Given the description of an element on the screen output the (x, y) to click on. 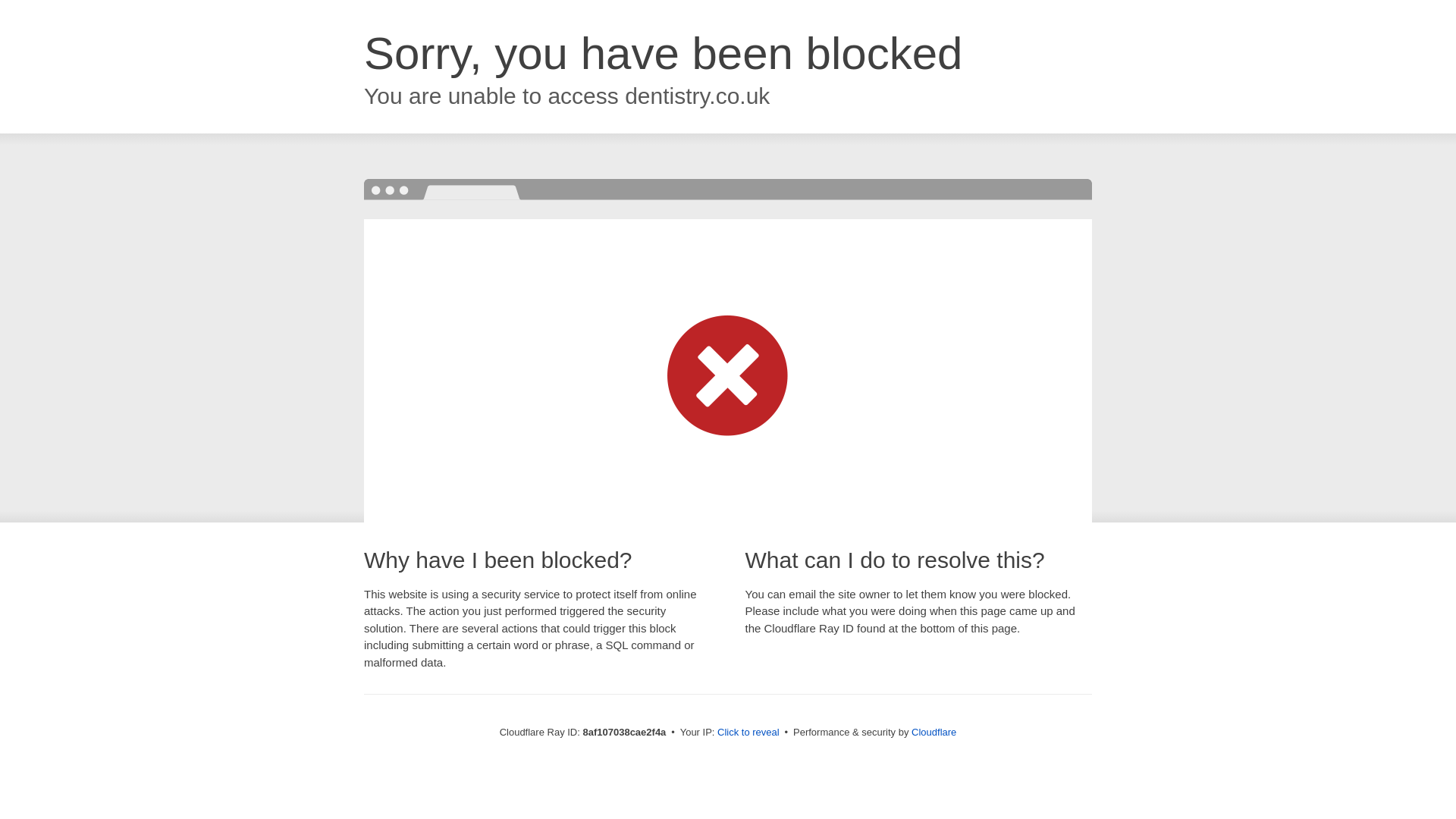
Click to reveal (747, 732)
Cloudflare (933, 731)
